Given the description of an element on the screen output the (x, y) to click on. 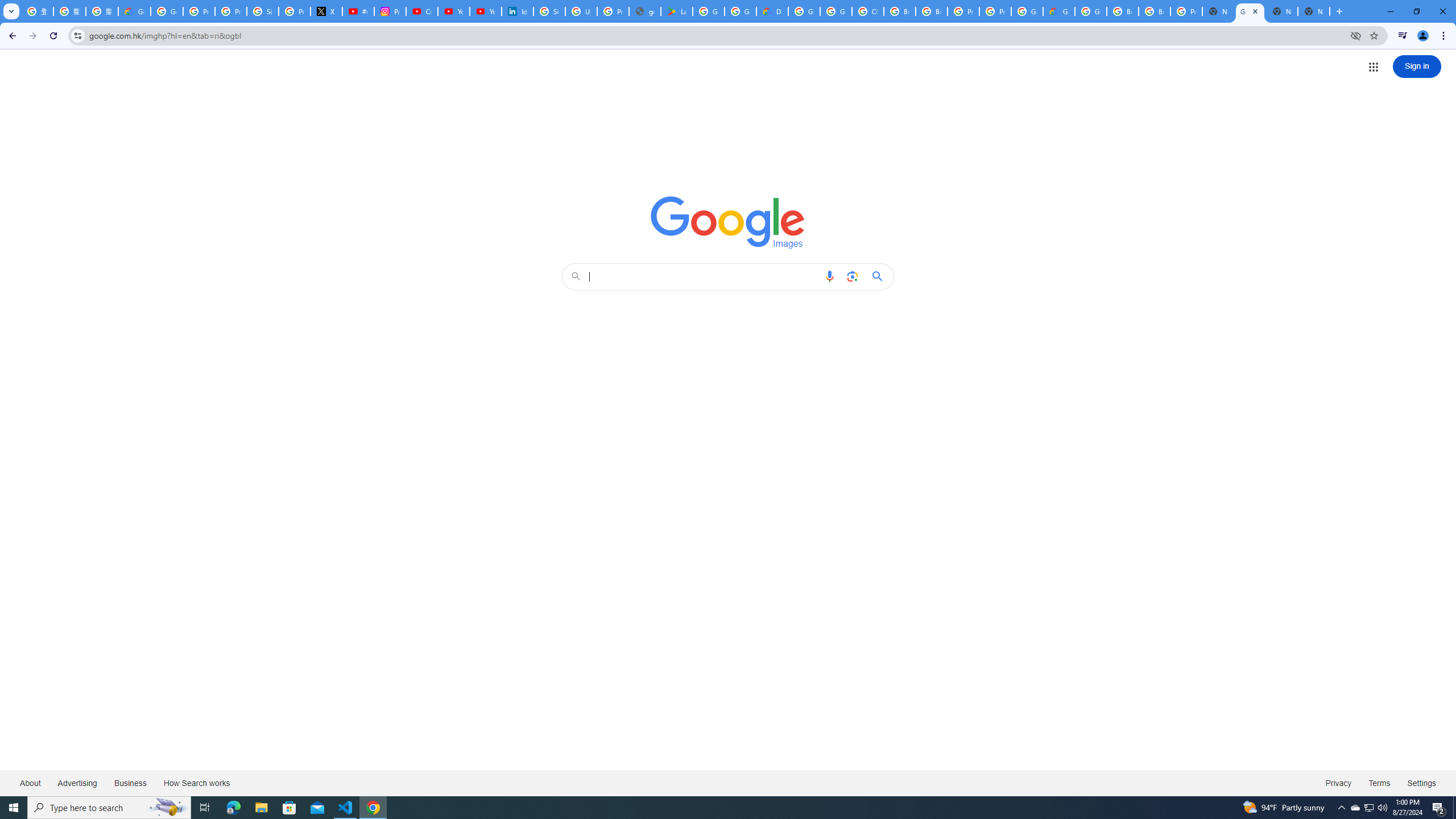
New Tab (1217, 11)
Advertising (77, 782)
Business (129, 782)
Google Images (727, 222)
